Given the description of an element on the screen output the (x, y) to click on. 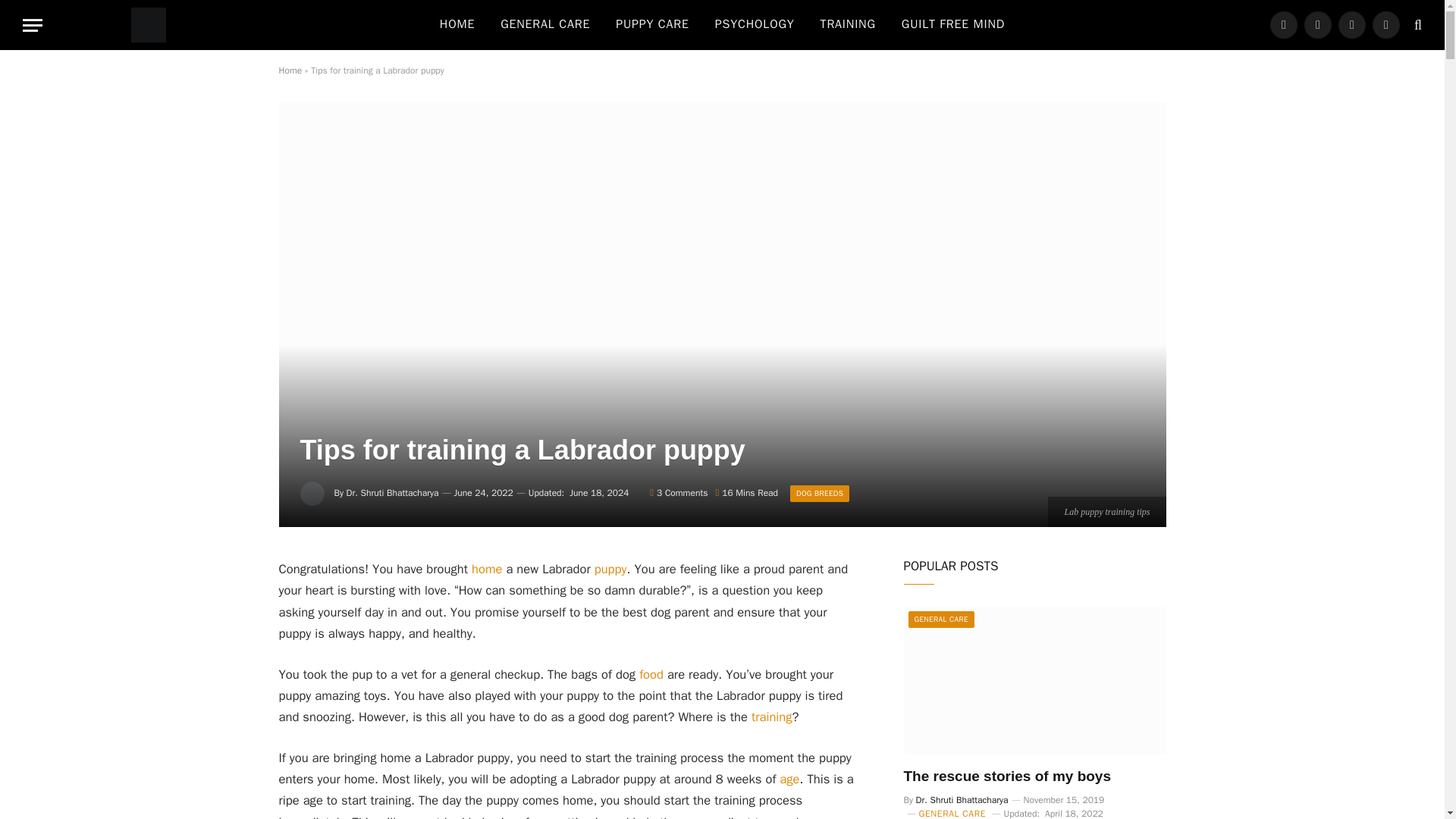
PUPPY CARE (651, 24)
HOME (456, 24)
DOG BREEDS (819, 493)
Dr. Shruti Bhattacharya (392, 492)
Home (290, 70)
Posts by Dr. Shruti Bhattacharya (392, 492)
The Happy Puppers (148, 24)
home (486, 569)
Facebook (1283, 24)
